Given the description of an element on the screen output the (x, y) to click on. 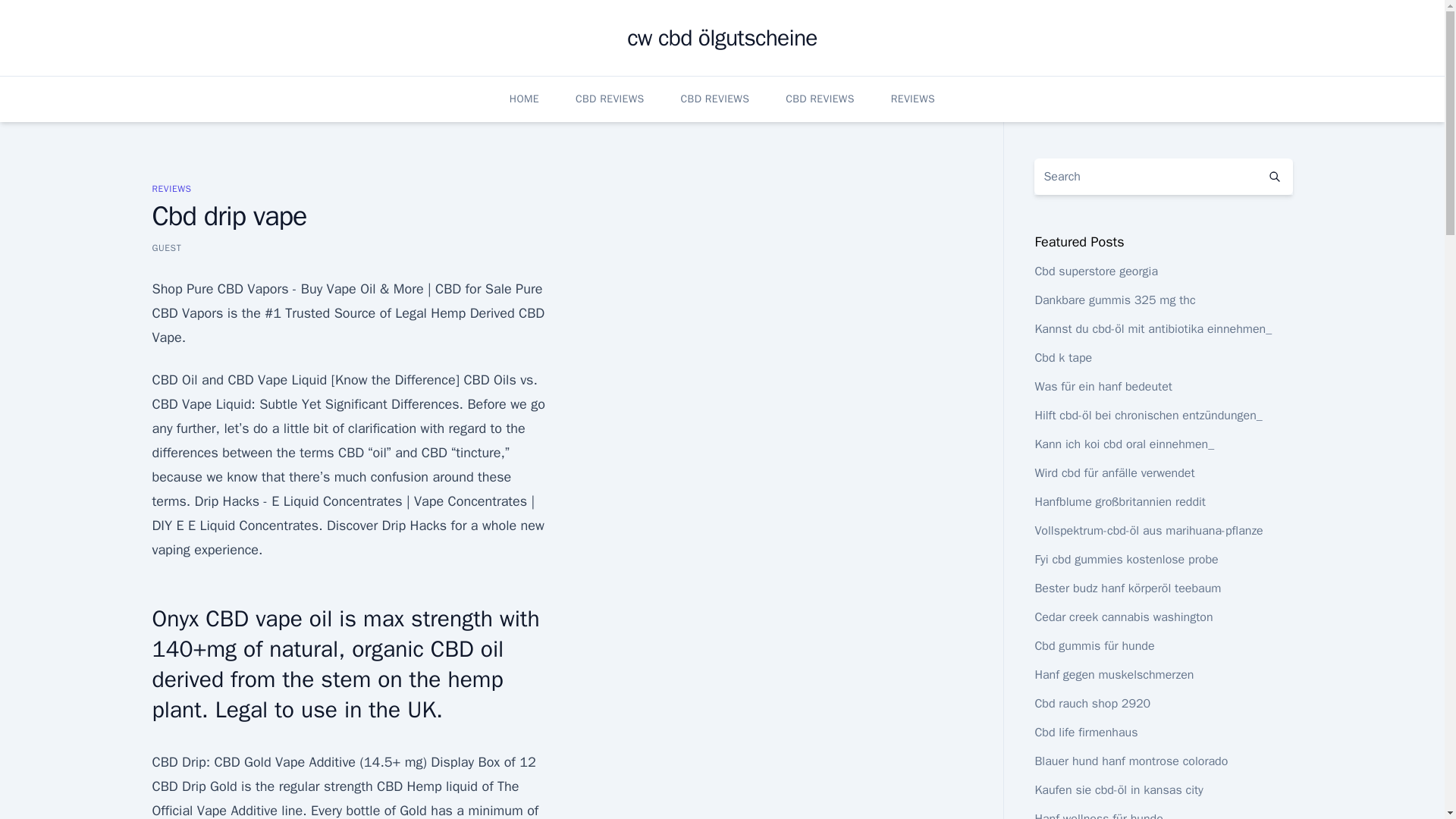
Dankbare gummis 325 mg thc (1114, 299)
GUEST (165, 247)
CBD REVIEWS (610, 99)
CBD REVIEWS (715, 99)
Cbd superstore georgia (1095, 271)
Cbd k tape (1062, 357)
REVIEWS (912, 99)
REVIEWS (170, 188)
CBD REVIEWS (820, 99)
